Given the description of an element on the screen output the (x, y) to click on. 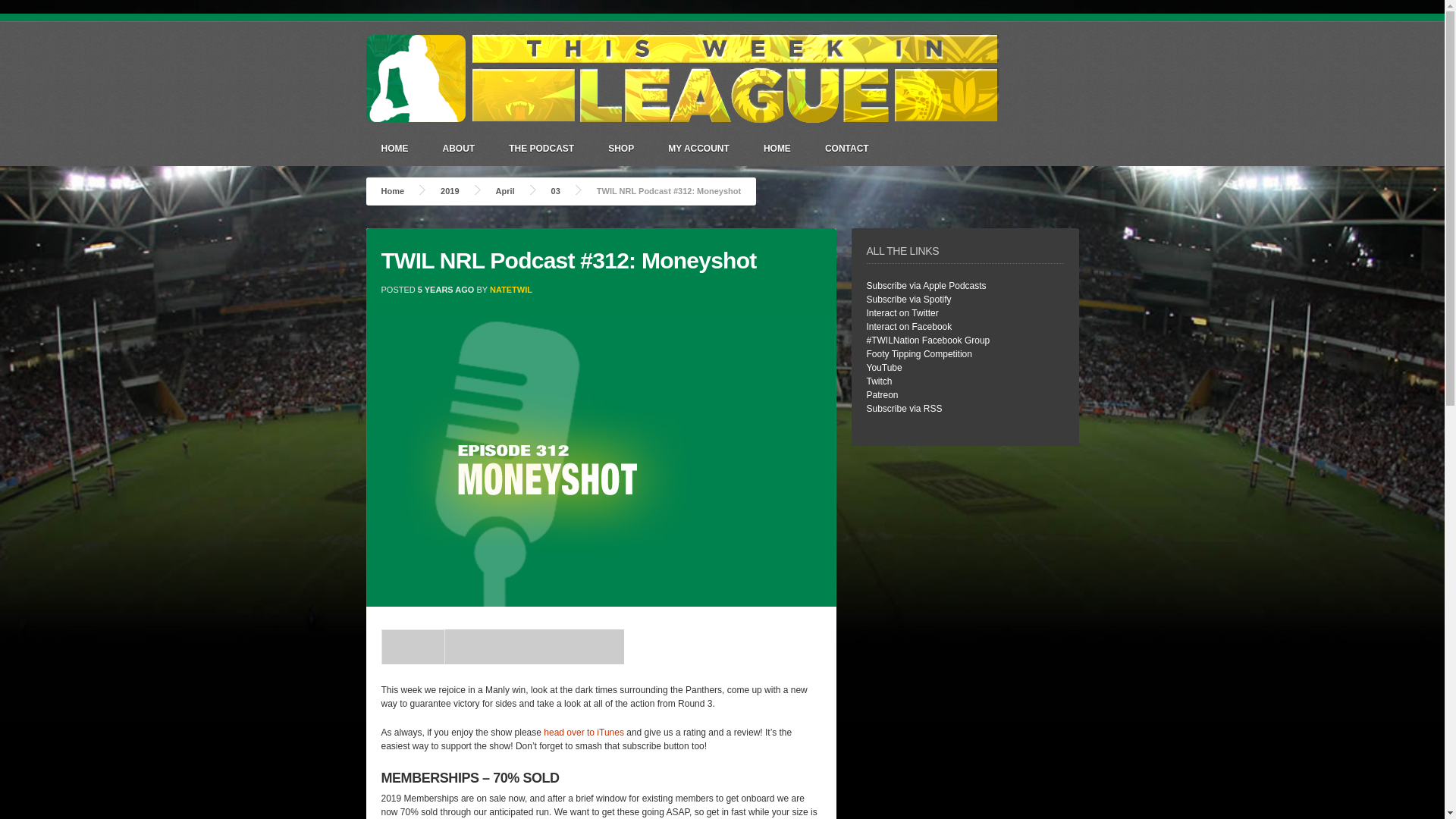
Subscribe via Apple Podcasts (925, 285)
THE PODCAST (541, 147)
Interact on Twitter (901, 312)
2019 (449, 191)
Interact on Facebook (909, 326)
April 2019 (505, 191)
MY ACCOUNT (698, 147)
2019 (449, 191)
Footy Tipping Competition (918, 353)
April (505, 191)
NATETWIL (510, 289)
This Week in League NRL Podcast -  (681, 128)
This Week in League NRL Podcast (392, 191)
CONTACT (846, 147)
ABOUT (459, 147)
